Given the description of an element on the screen output the (x, y) to click on. 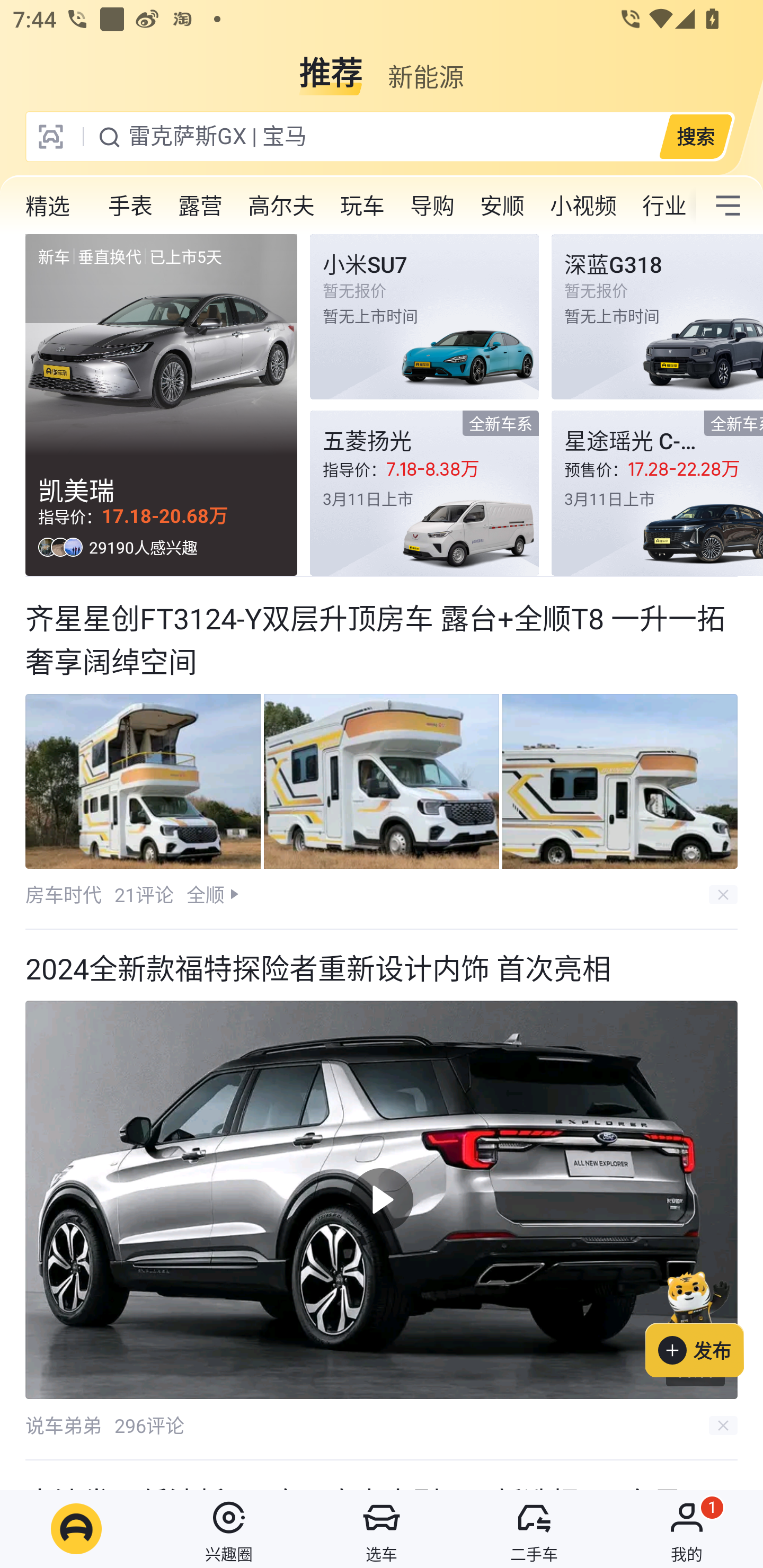
推荐 (330, 65)
新能源 (425, 65)
搜索 (695, 136)
手表 (130, 205)
露营 (200, 205)
高尔夫 (281, 205)
玩车 (362, 205)
导购 (431, 205)
安顺 (501, 205)
小视频 (583, 205)
行业 (662, 205)
 (727, 205)
精选 (47, 206)
暂无报价 (423, 316)
暂无报价 (657, 316)
全新车系指导价：7.18-8.38万 (423, 492)
全新车系预售价：17.28-22.28万 (657, 492)
齐星星创FT3124-Y双层升顶房车 露台+全顺T8 一升一拓奢享阔绰空间 房车时代 21评论 全顺 (381, 753)
全顺 (205, 894)
2024全新款福特探险者重新设计内饰 首次亮相  05:50 说车弟弟 296评论 (381, 1194)
发布 (704, 1320)
 兴趣圈 (228, 1528)
 选车 (381, 1528)
 二手车 (533, 1528)
 我的 (686, 1528)
